Given the description of an element on the screen output the (x, y) to click on. 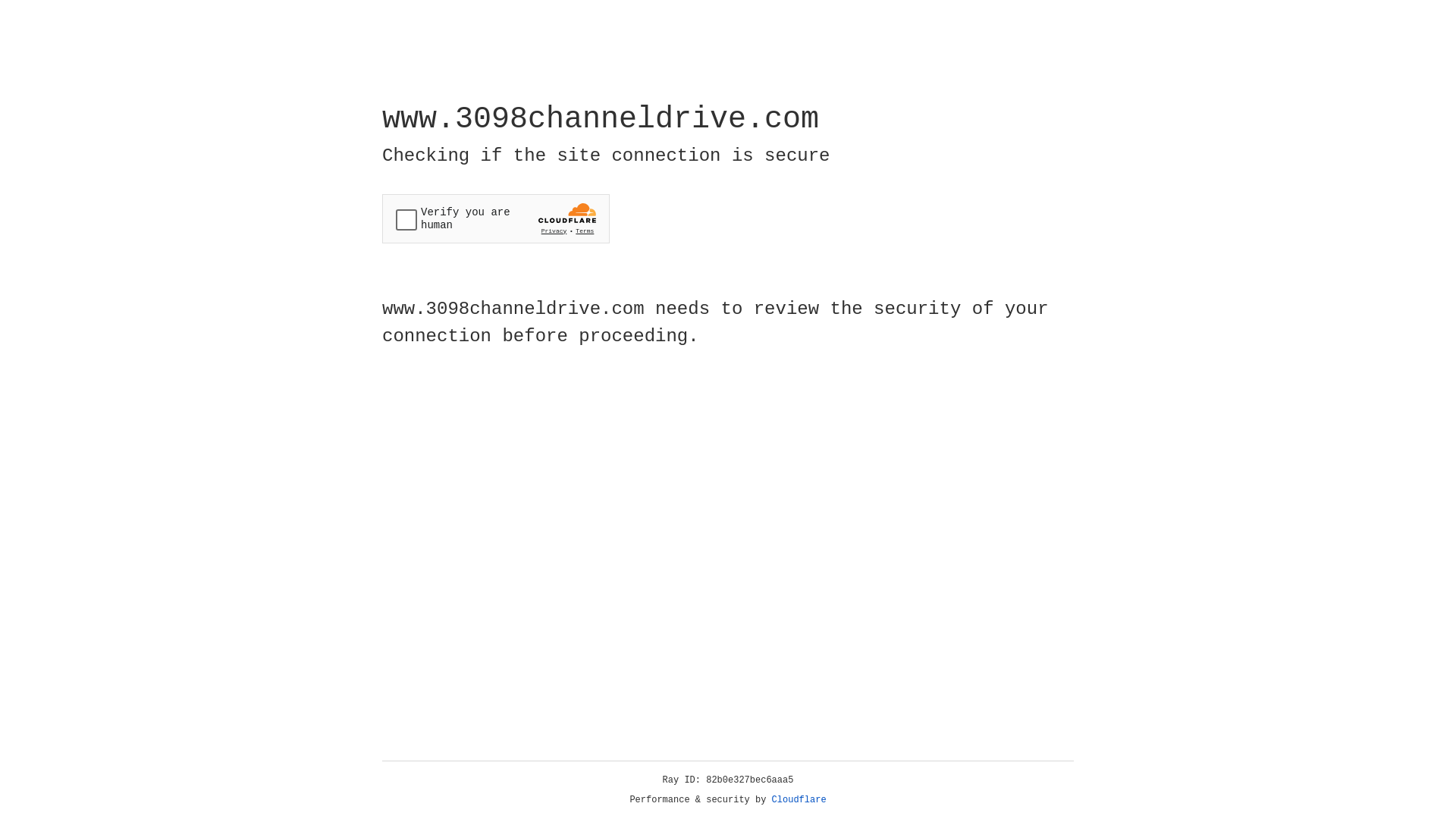
Widget containing a Cloudflare security challenge Element type: hover (495, 218)
Cloudflare Element type: text (798, 799)
